Given the description of an element on the screen output the (x, y) to click on. 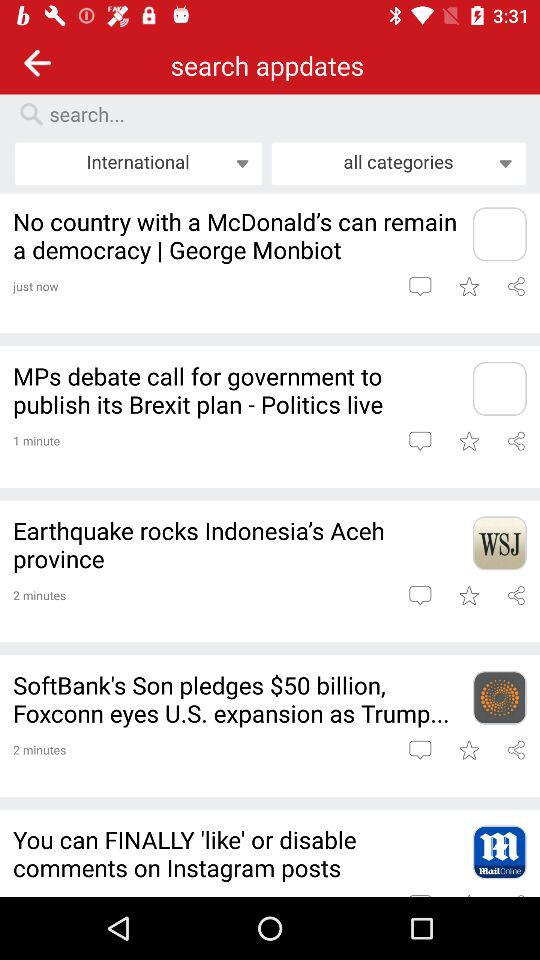
share the selected article (515, 440)
